Given the description of an element on the screen output the (x, y) to click on. 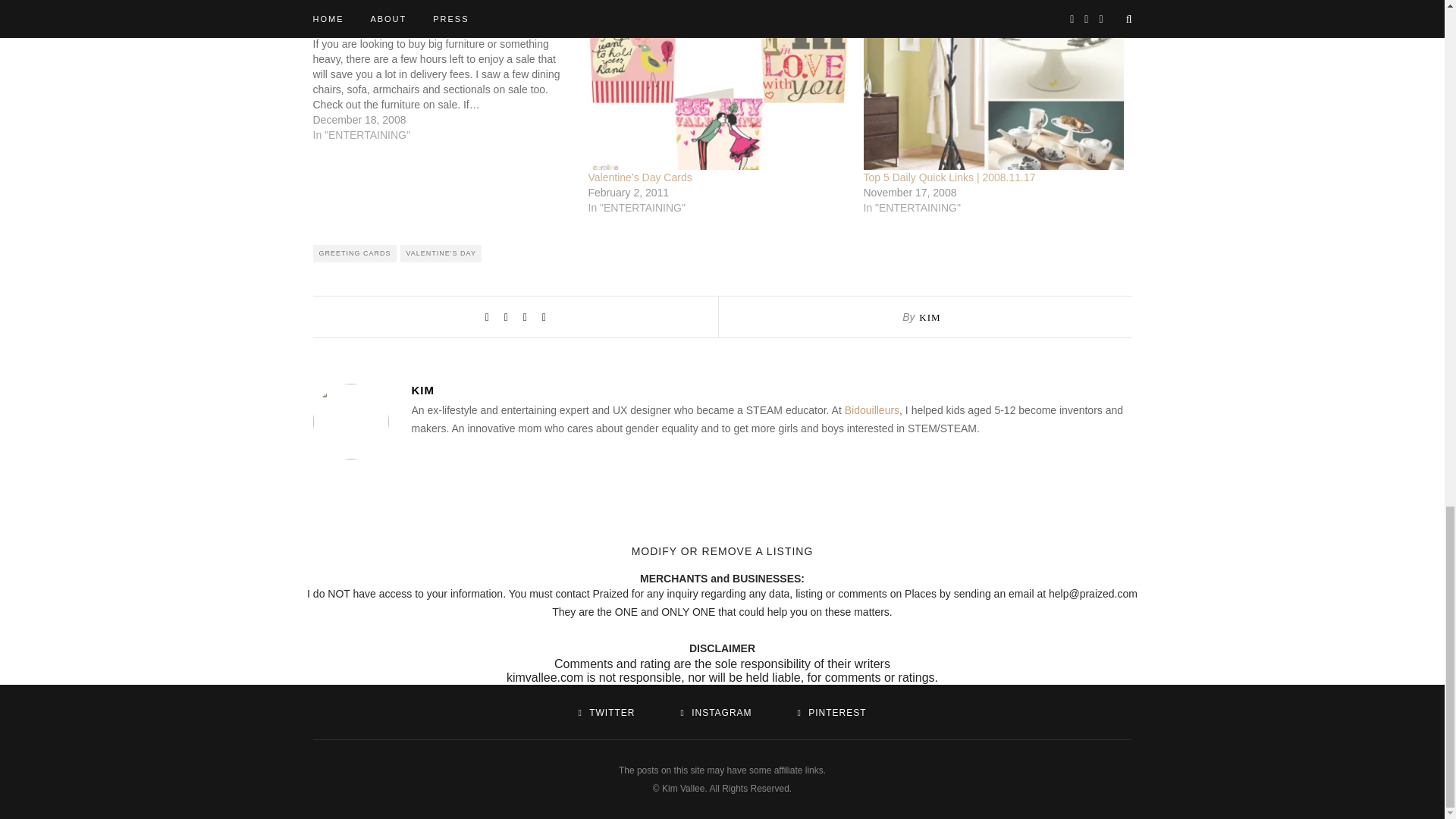
KIM (770, 390)
Posts by Kim (929, 317)
One-Day Free Shipping at West Elm (398, 28)
KIM (929, 317)
One-Day Free Shipping at West Elm (398, 28)
Posts by Kim (770, 390)
GREETING CARDS (354, 253)
PINTEREST (831, 712)
One-Day Free Shipping at West Elm (450, 81)
Bidouilleurs (871, 410)
INSTAGRAM (715, 712)
TWITTER (606, 712)
VALENTINE'S DAY (440, 253)
